Given the description of an element on the screen output the (x, y) to click on. 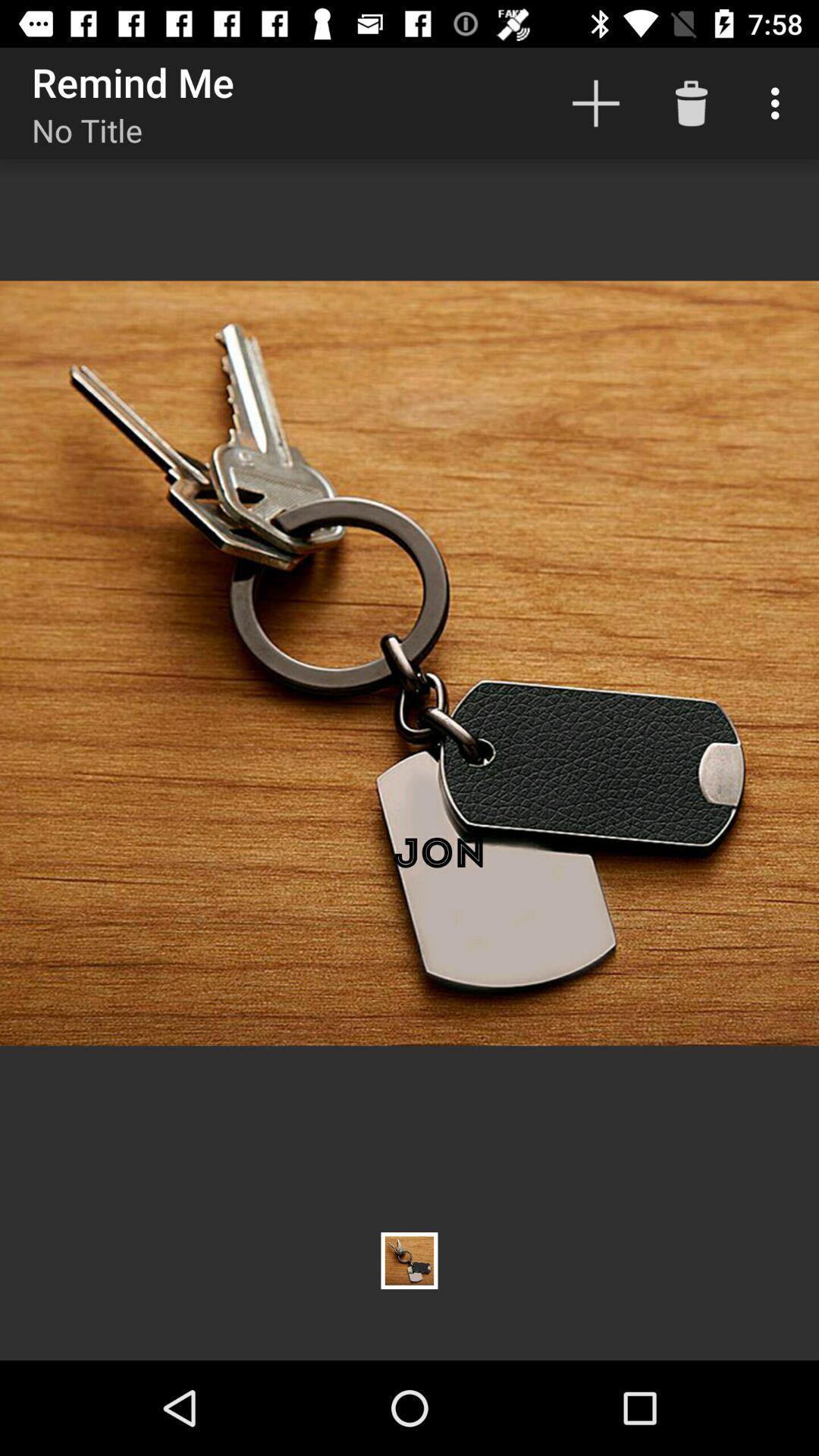
turn off app to the right of remind me (595, 103)
